Given the description of an element on the screen output the (x, y) to click on. 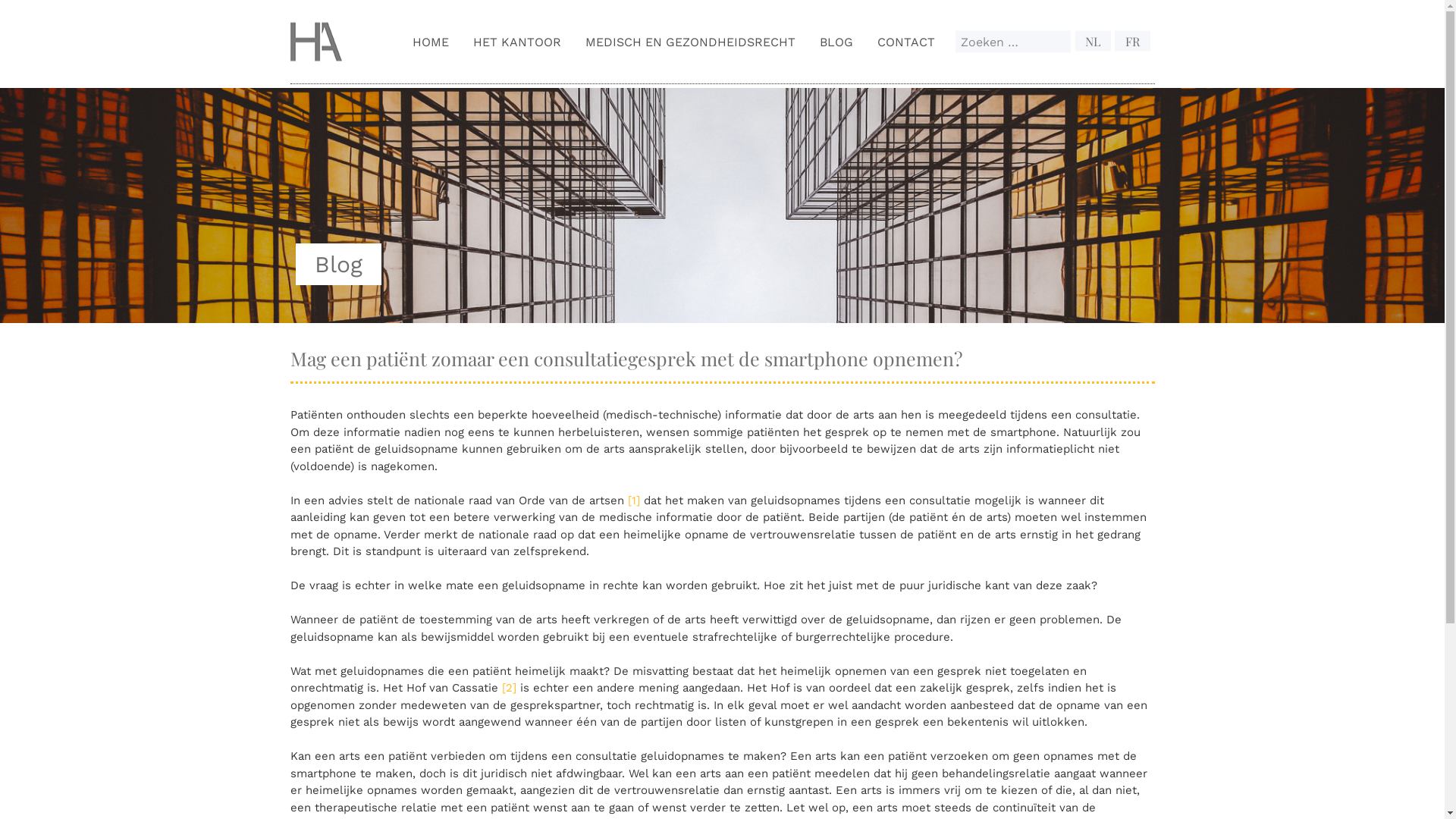
FR Element type: text (1132, 40)
NL Element type: text (1092, 40)
HOME Element type: text (430, 40)
Zoeken Element type: text (1062, 42)
CONTACT Element type: text (906, 40)
[1] Element type: text (633, 499)
HET KANTOOR Element type: text (517, 40)
BLOG Element type: text (836, 40)
[2] Element type: text (509, 687)
MEDISCH EN GEZONDHEIDSRECHT Element type: text (690, 40)
